Given the description of an element on the screen output the (x, y) to click on. 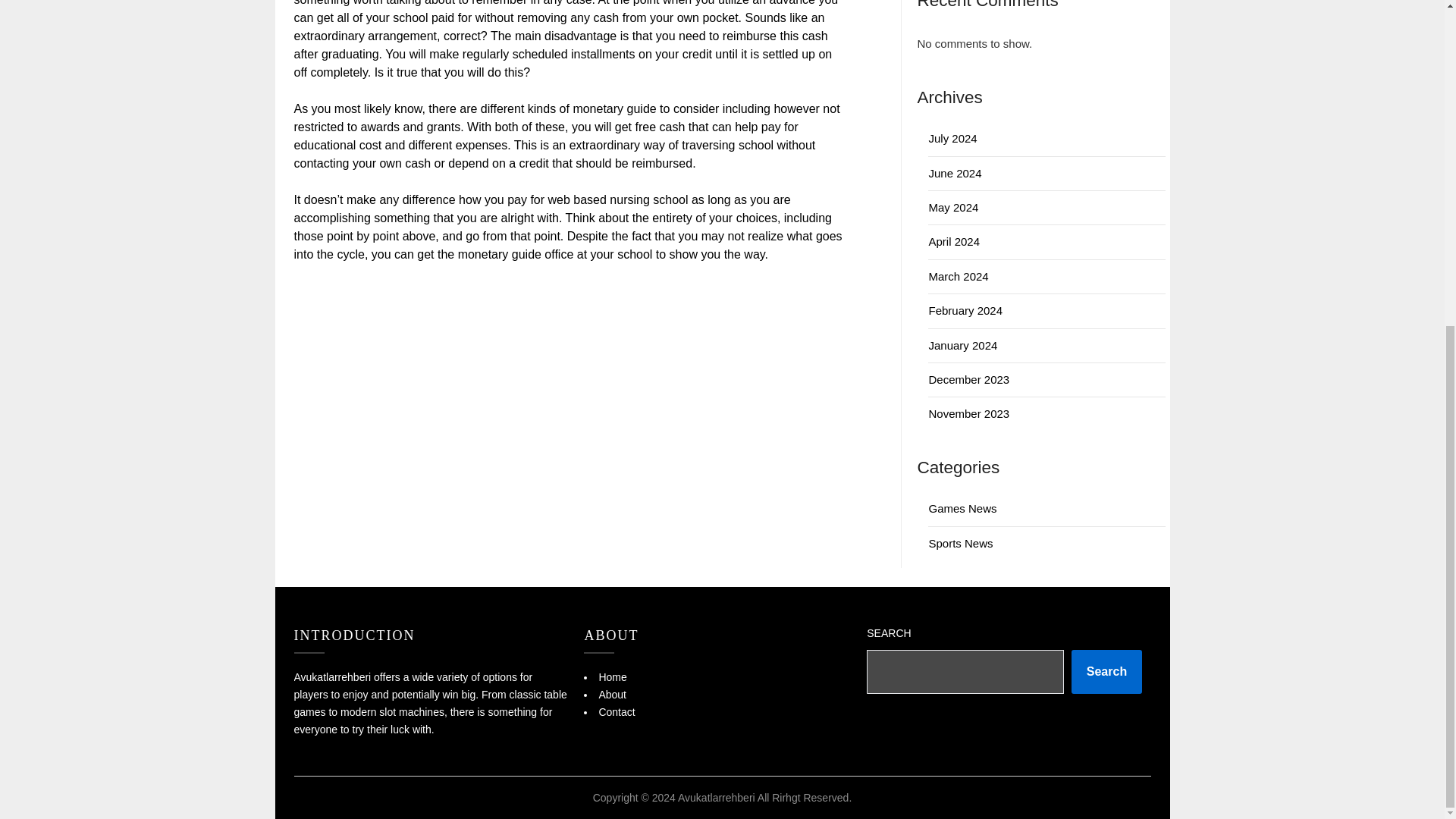
April 2024 (953, 241)
Games News (961, 508)
Contact (616, 711)
June 2024 (954, 173)
Search (1106, 671)
March 2024 (958, 276)
About (612, 694)
May 2024 (953, 206)
Sports News (960, 543)
Avukatlarrehberi (716, 797)
Home (612, 676)
January 2024 (962, 345)
December 2023 (968, 379)
July 2024 (952, 137)
February 2024 (965, 309)
